Given the description of an element on the screen output the (x, y) to click on. 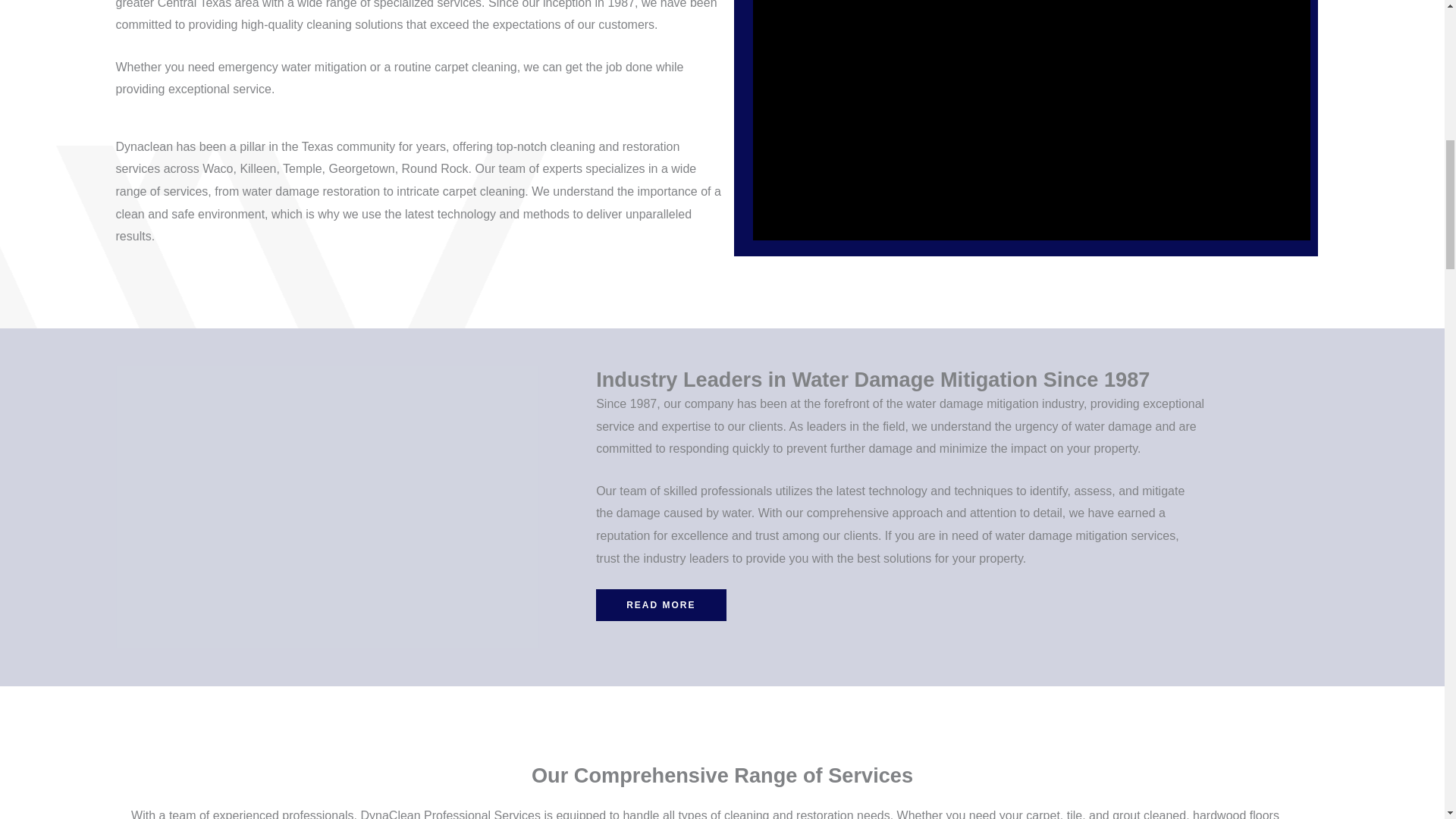
vimeo Video Player (1030, 120)
